Given the description of an element on the screen output the (x, y) to click on. 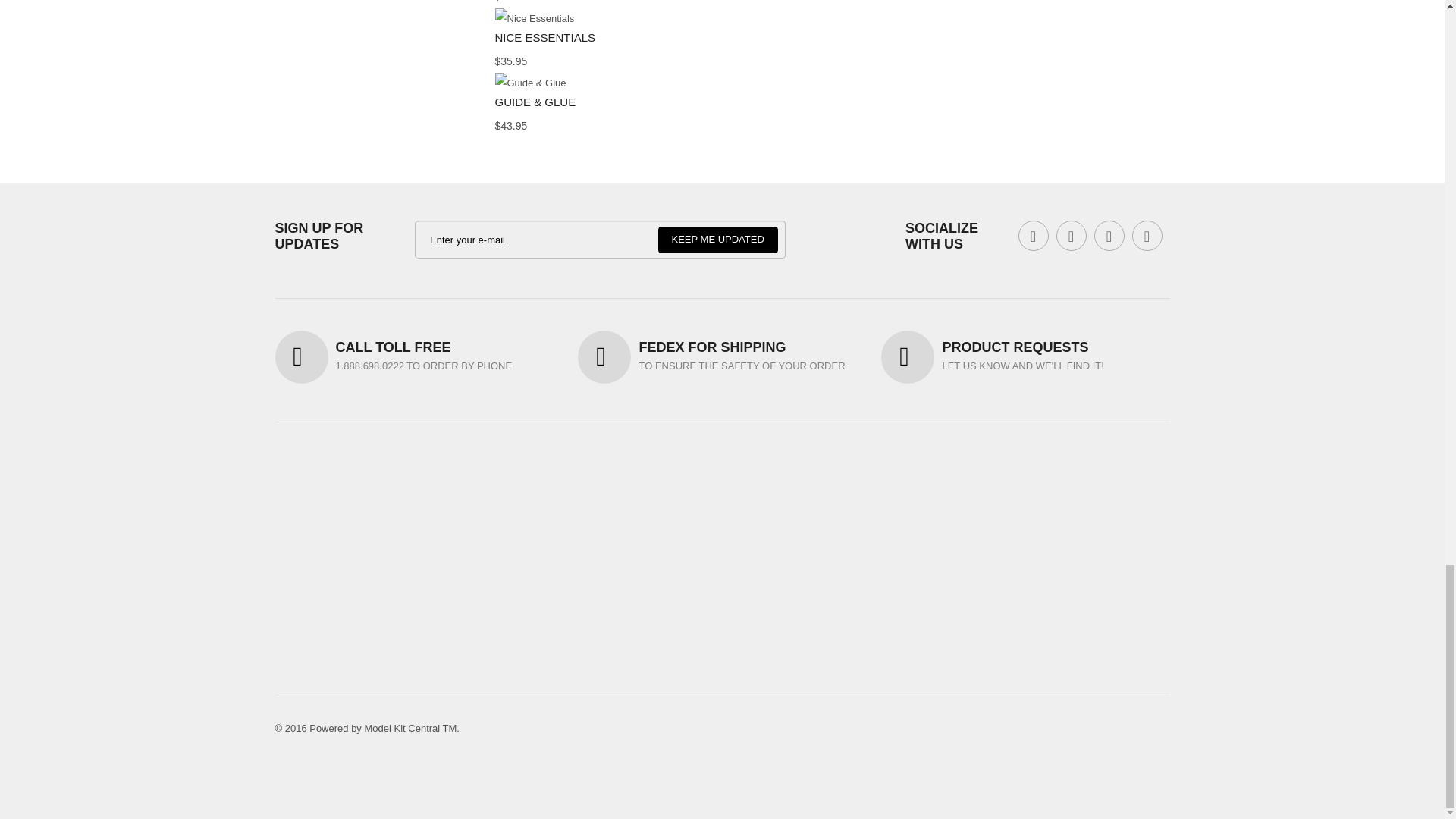
Enter your e-mail (600, 239)
